Given the description of an element on the screen output the (x, y) to click on. 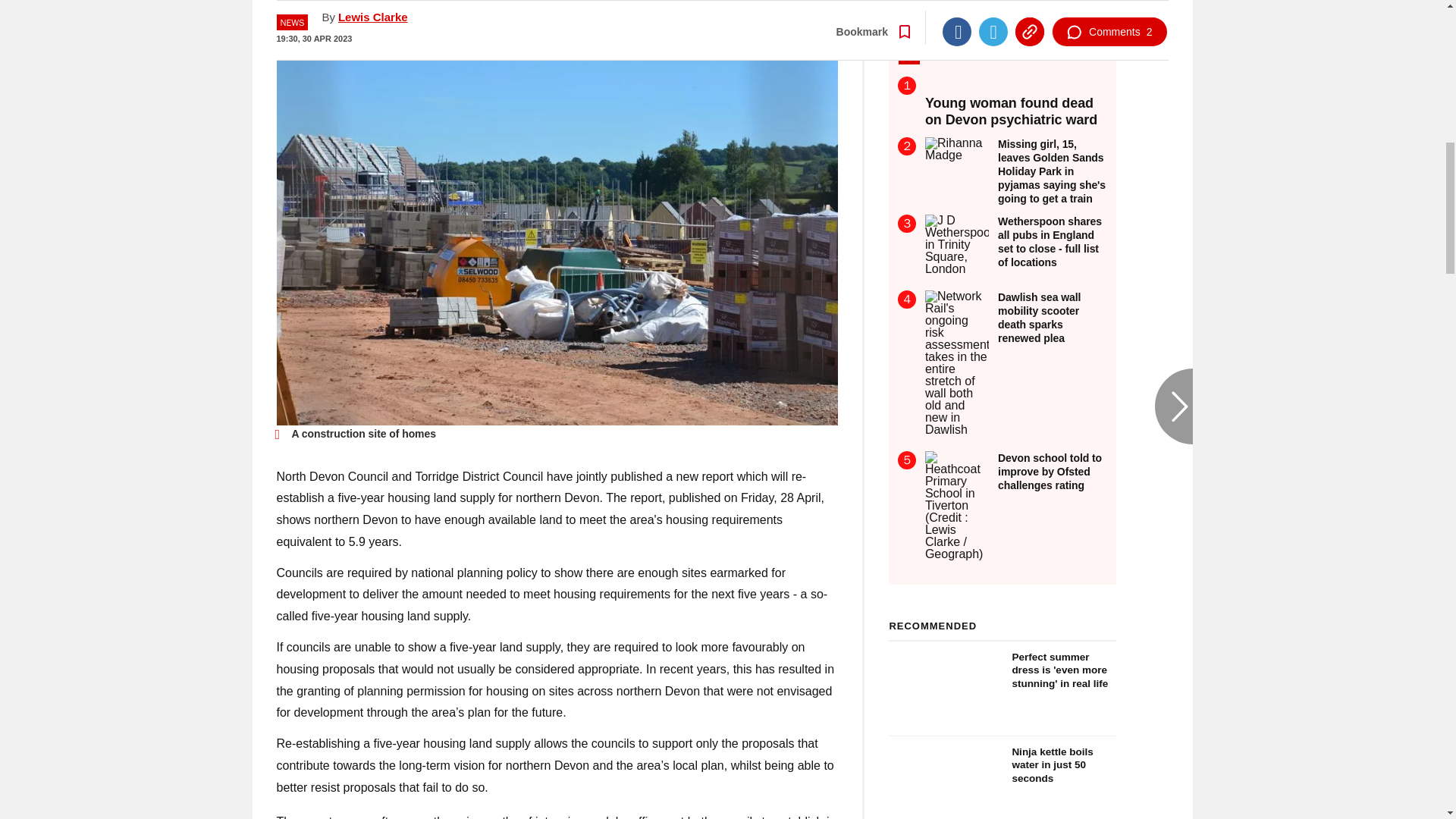
Go (730, 17)
